Given the description of an element on the screen output the (x, y) to click on. 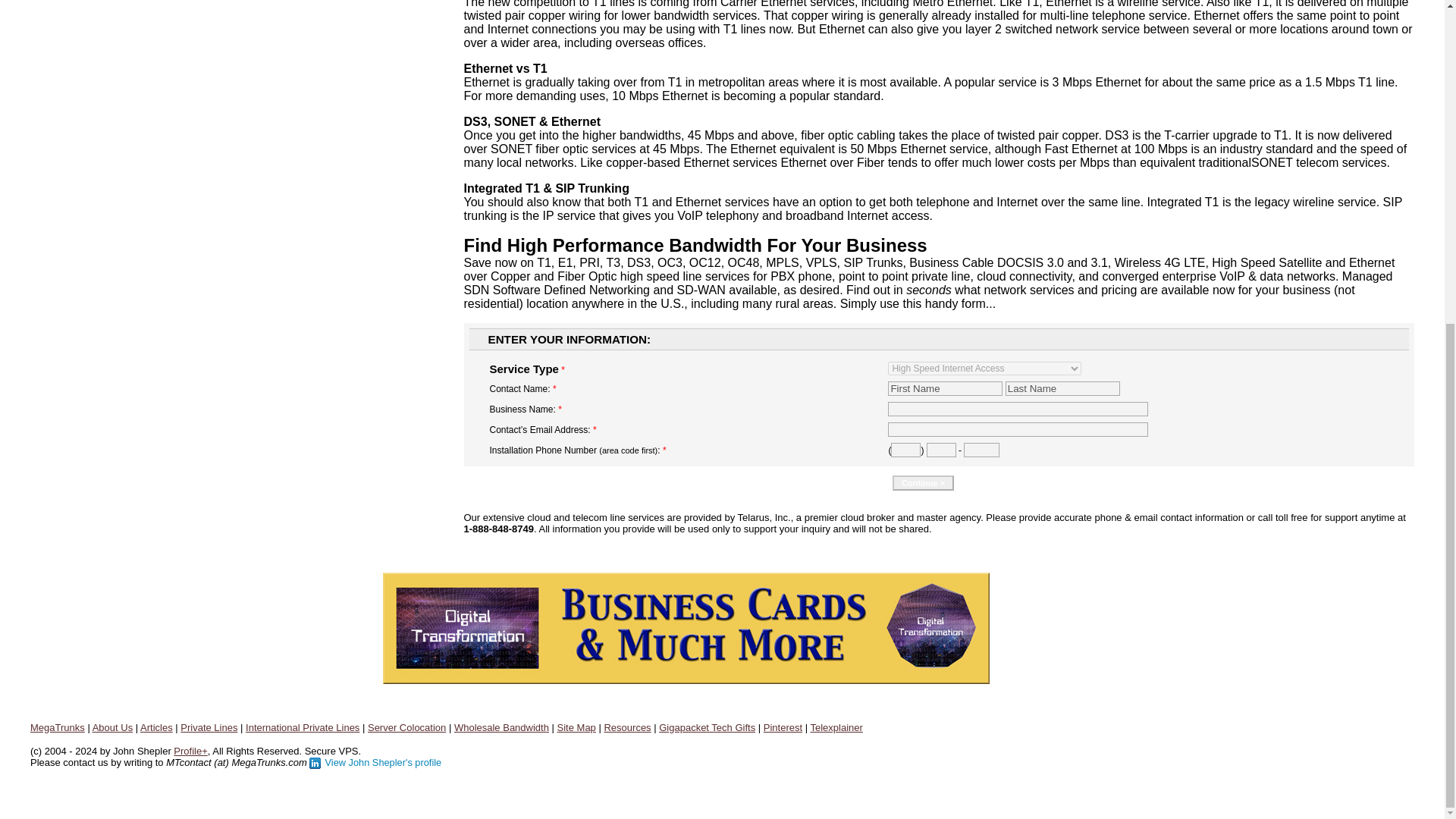
Resources (627, 727)
MegaTrunks (57, 726)
Telexplainer (835, 727)
Private Lines (208, 727)
Articles (156, 727)
Site Map (576, 727)
Pinterest (782, 727)
Wholesale Bandwidth (501, 727)
Server Colocation (406, 727)
International Private Lines (302, 727)
View John Shepler's profile (374, 761)
About Us (112, 727)
Gigapacket Tech Gifts (707, 727)
First Name (945, 388)
Last Name (1062, 388)
